Given the description of an element on the screen output the (x, y) to click on. 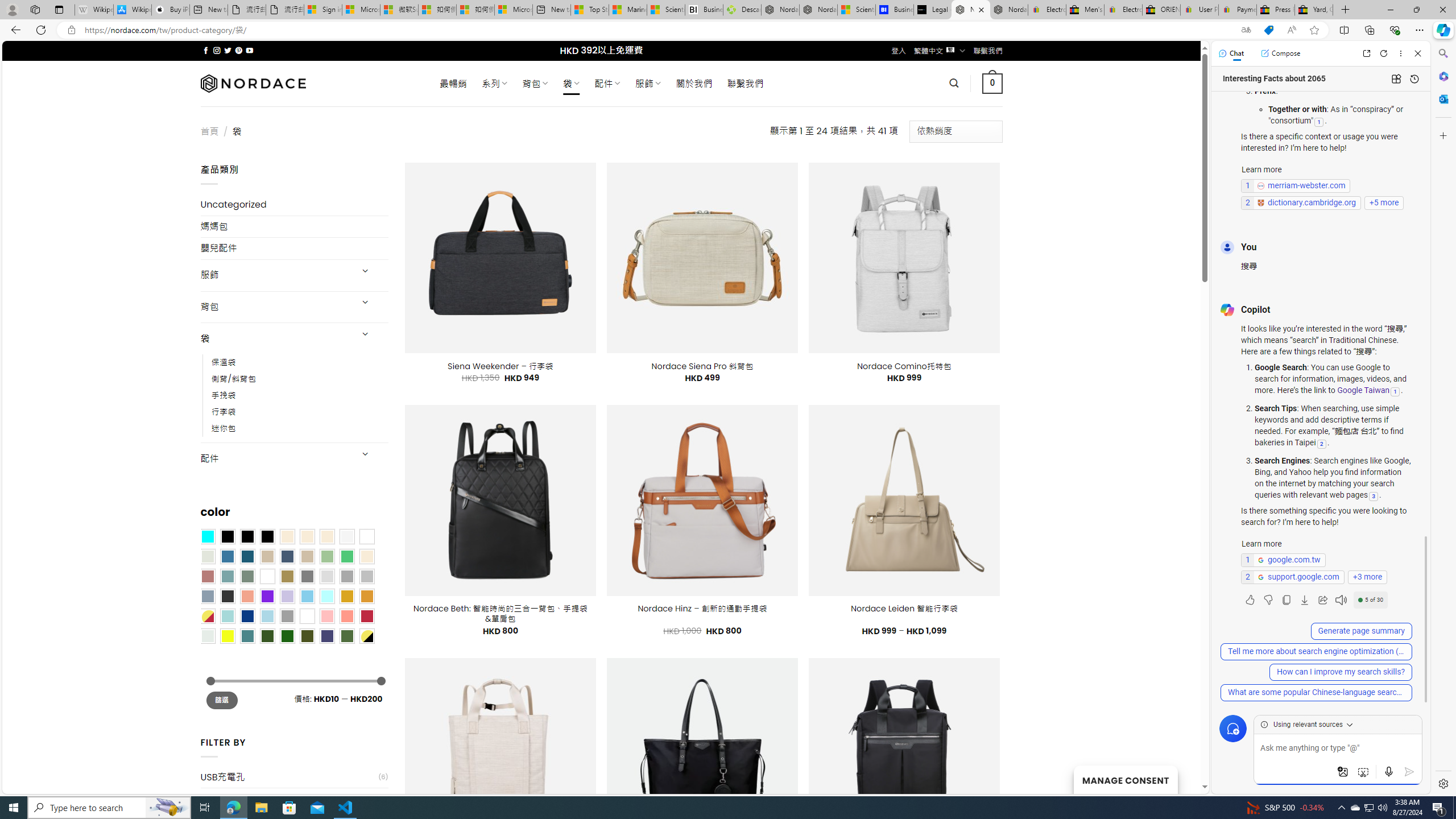
  0   (992, 83)
